Given the description of an element on the screen output the (x, y) to click on. 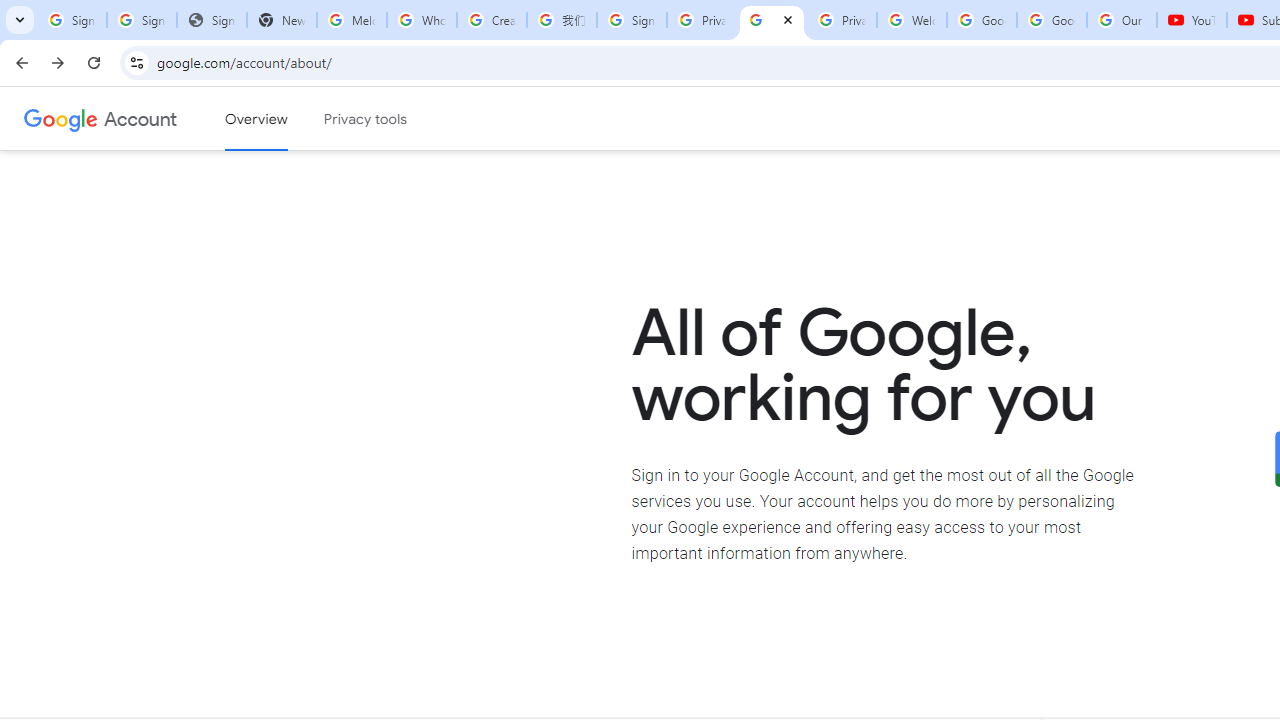
YouTube (1192, 20)
